Given the description of an element on the screen output the (x, y) to click on. 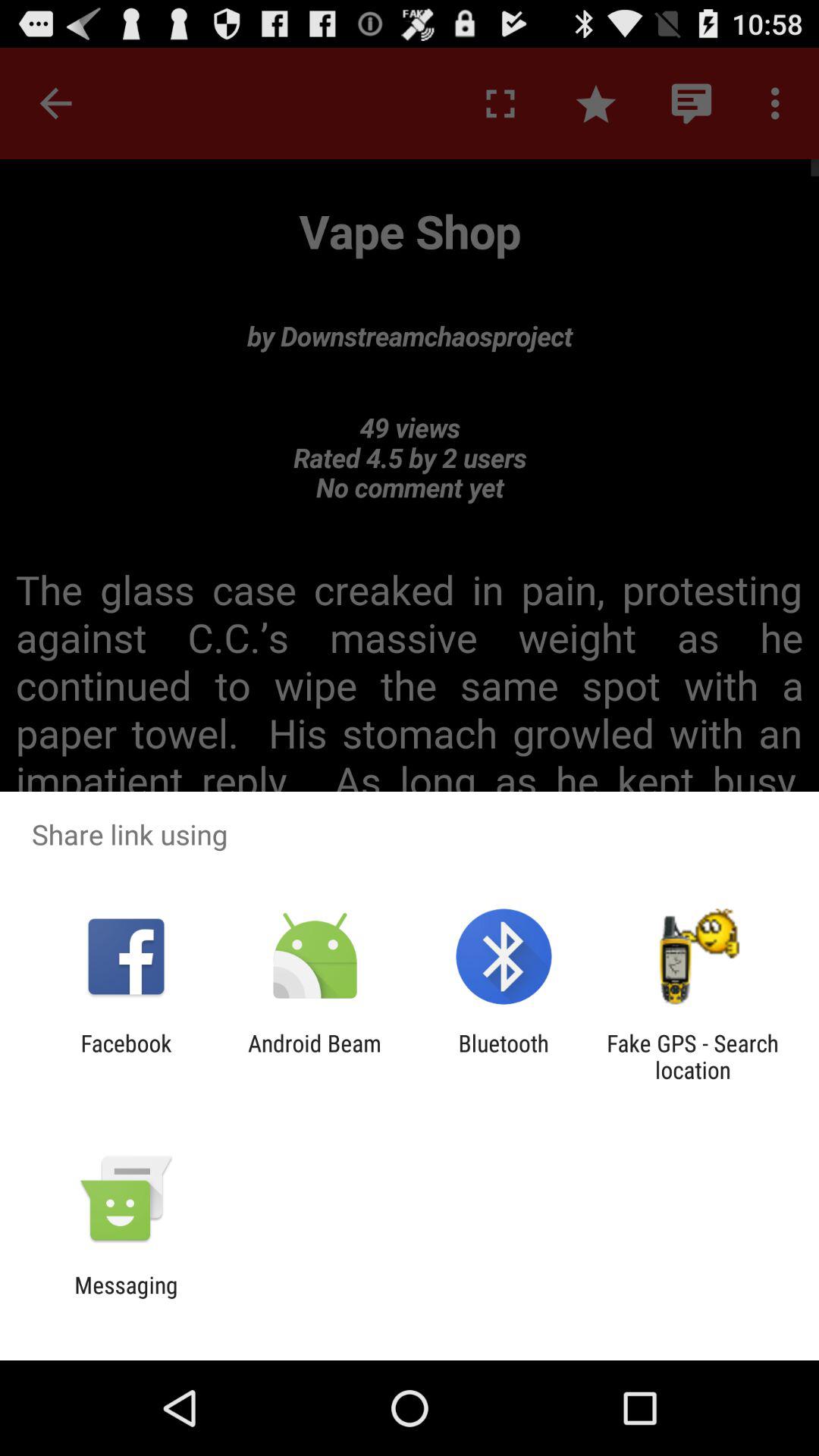
select app at the bottom right corner (692, 1056)
